Given the description of an element on the screen output the (x, y) to click on. 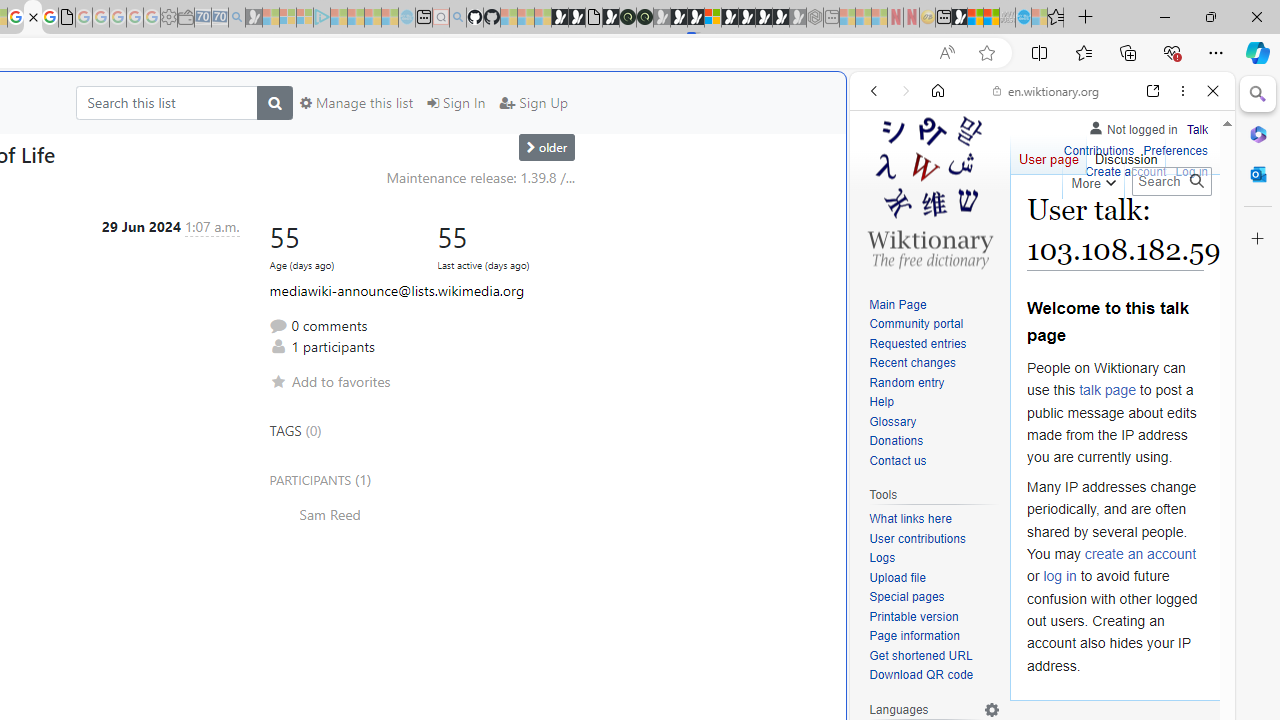
Search or enter web address (343, 191)
Log in (1191, 172)
log in (1059, 576)
Home | Sky Blue Bikes - Sky Blue Bikes (687, 426)
Help (934, 403)
Bing Real Estate - Home sales and rental listings - Sleeping (236, 17)
